Given the description of an element on the screen output the (x, y) to click on. 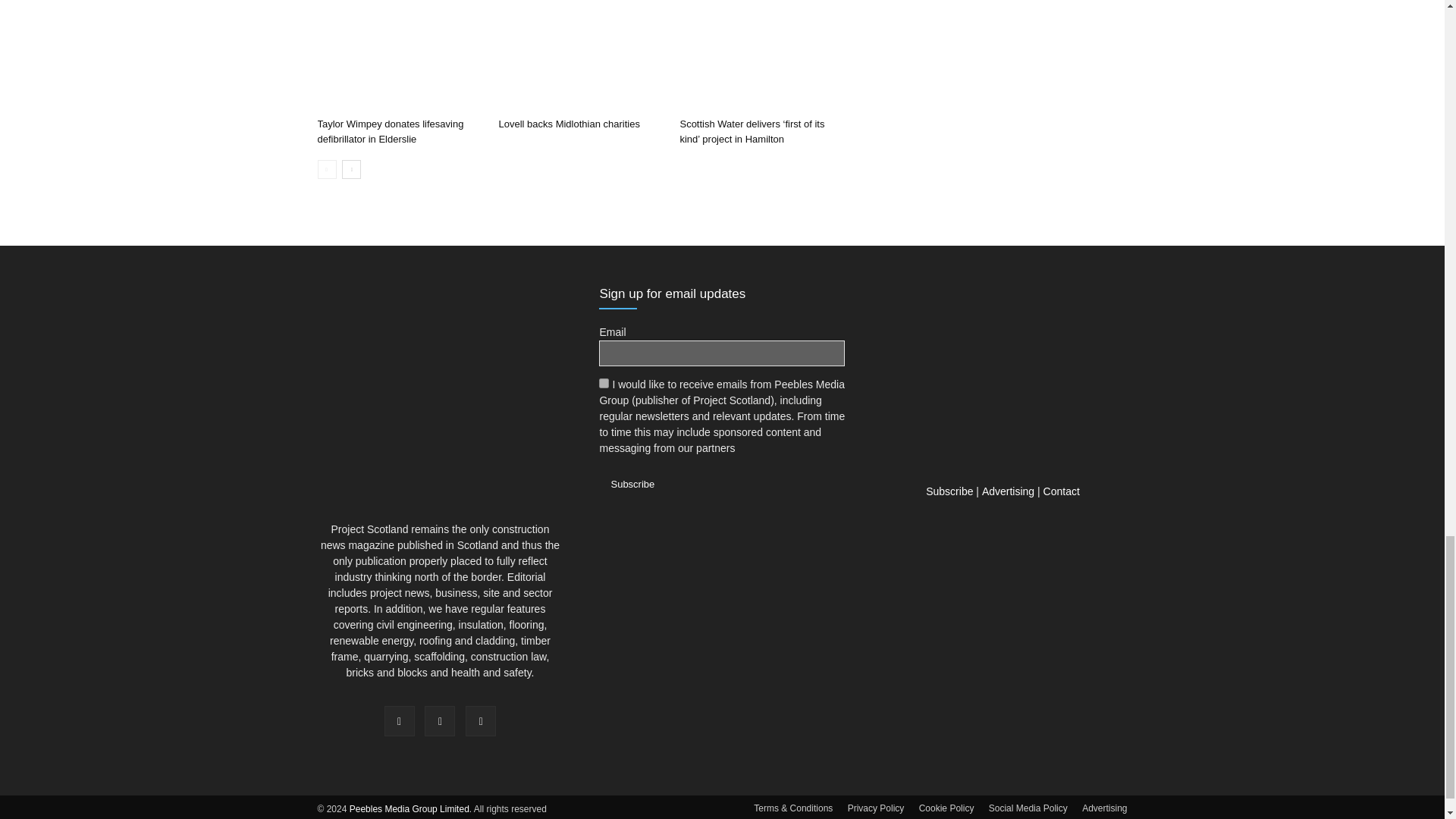
Subscribe (631, 484)
on (603, 383)
